Given the description of an element on the screen output the (x, y) to click on. 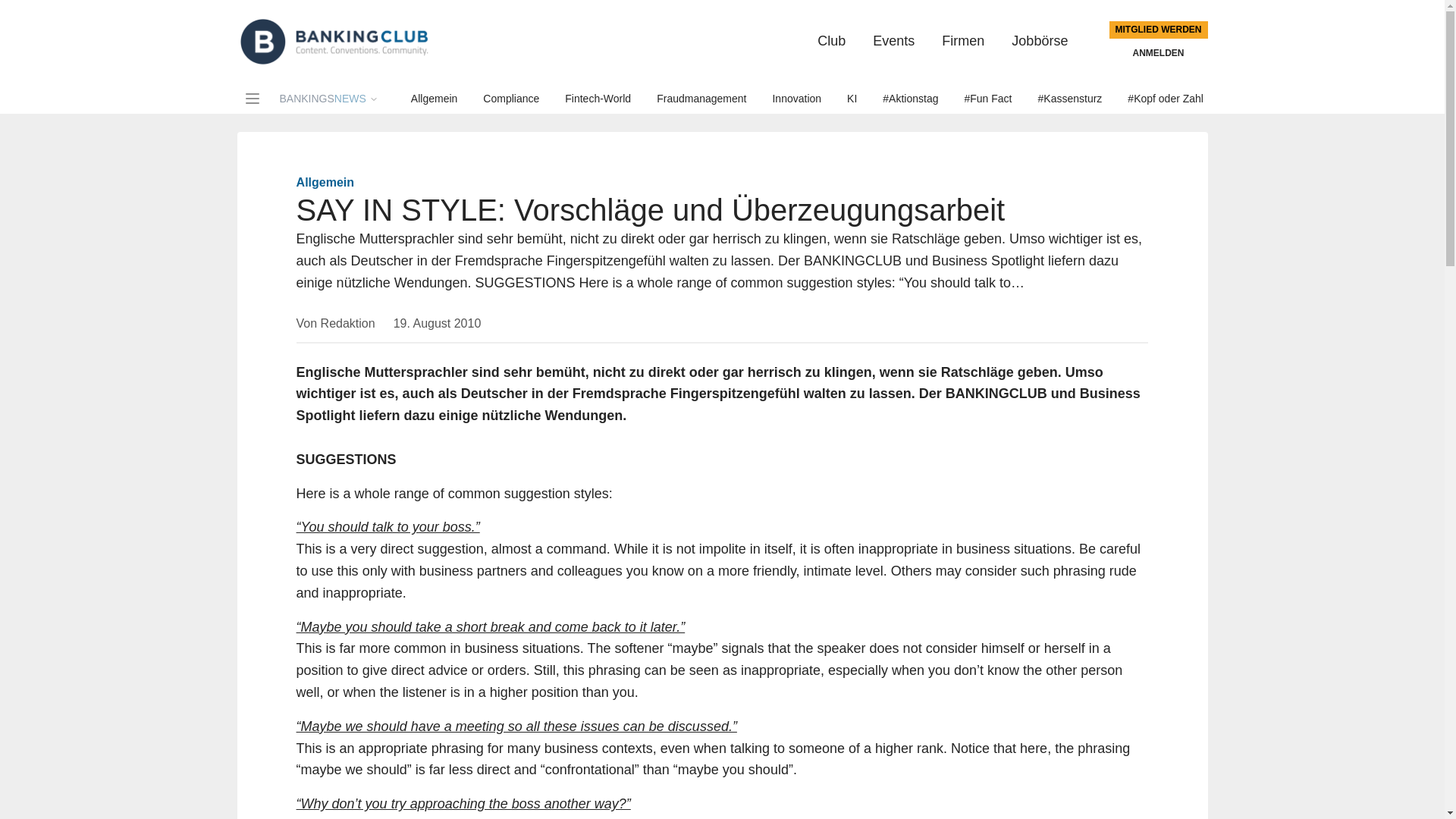
Fraudmanagement (701, 98)
ANMELDEN (1158, 53)
Firmen (963, 41)
Club (830, 41)
Innovation (328, 98)
Events (796, 98)
Allgemein (893, 41)
Fintech-World (433, 98)
KI (598, 98)
Allgemein (851, 98)
Compliance (433, 98)
Fraudmanagement (510, 98)
Compliance (701, 98)
MITGLIED WERDEN (510, 98)
